Given the description of an element on the screen output the (x, y) to click on. 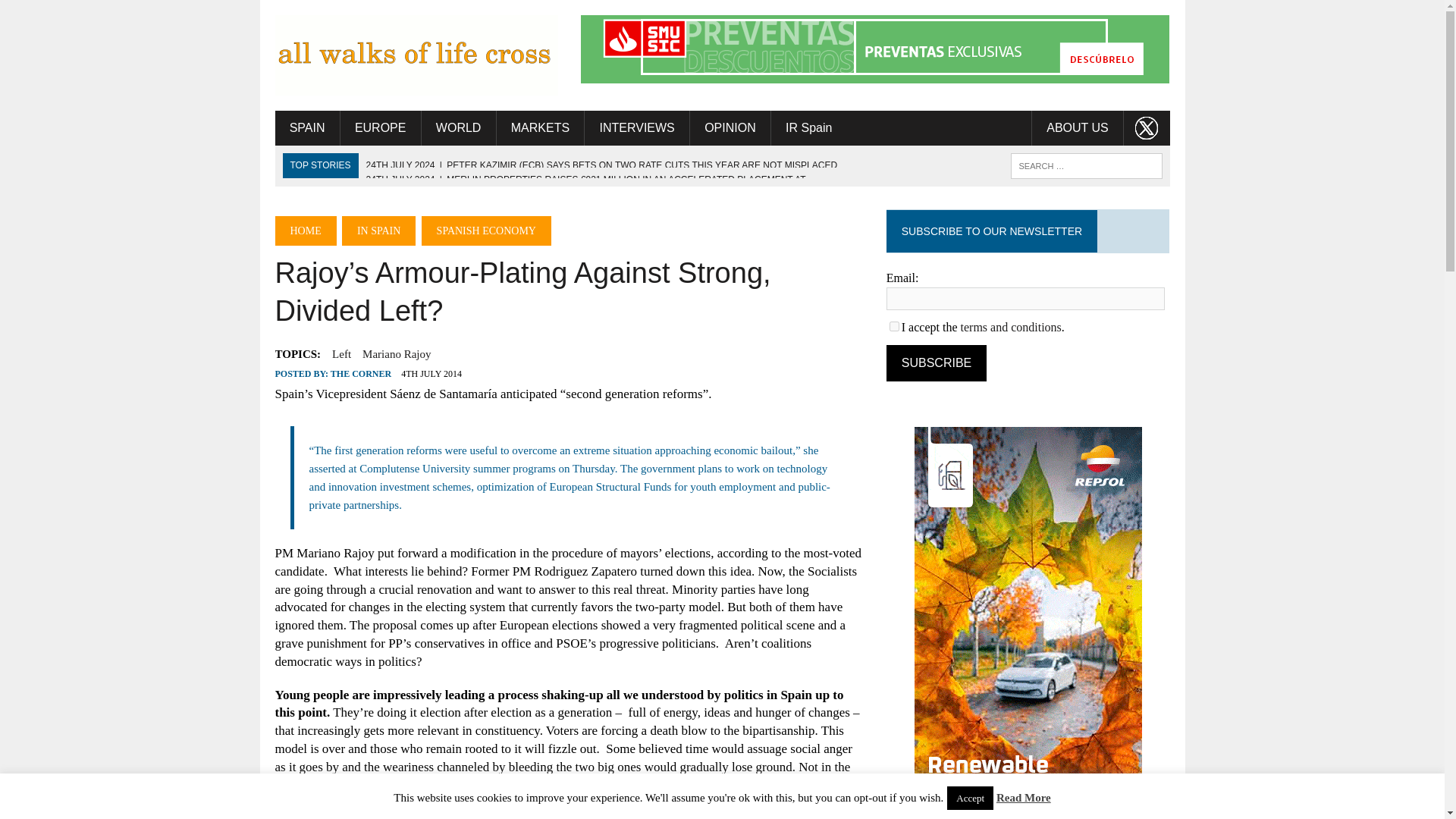
1 (894, 326)
I accept the terms and conditions. (894, 326)
INTERVIEWS (636, 127)
WORLD (459, 127)
MARKETS (540, 127)
advertisement (875, 49)
The Corner (416, 55)
EUROPE (380, 127)
SUBSCRIBE (936, 362)
SPAIN (307, 127)
